Given the description of an element on the screen output the (x, y) to click on. 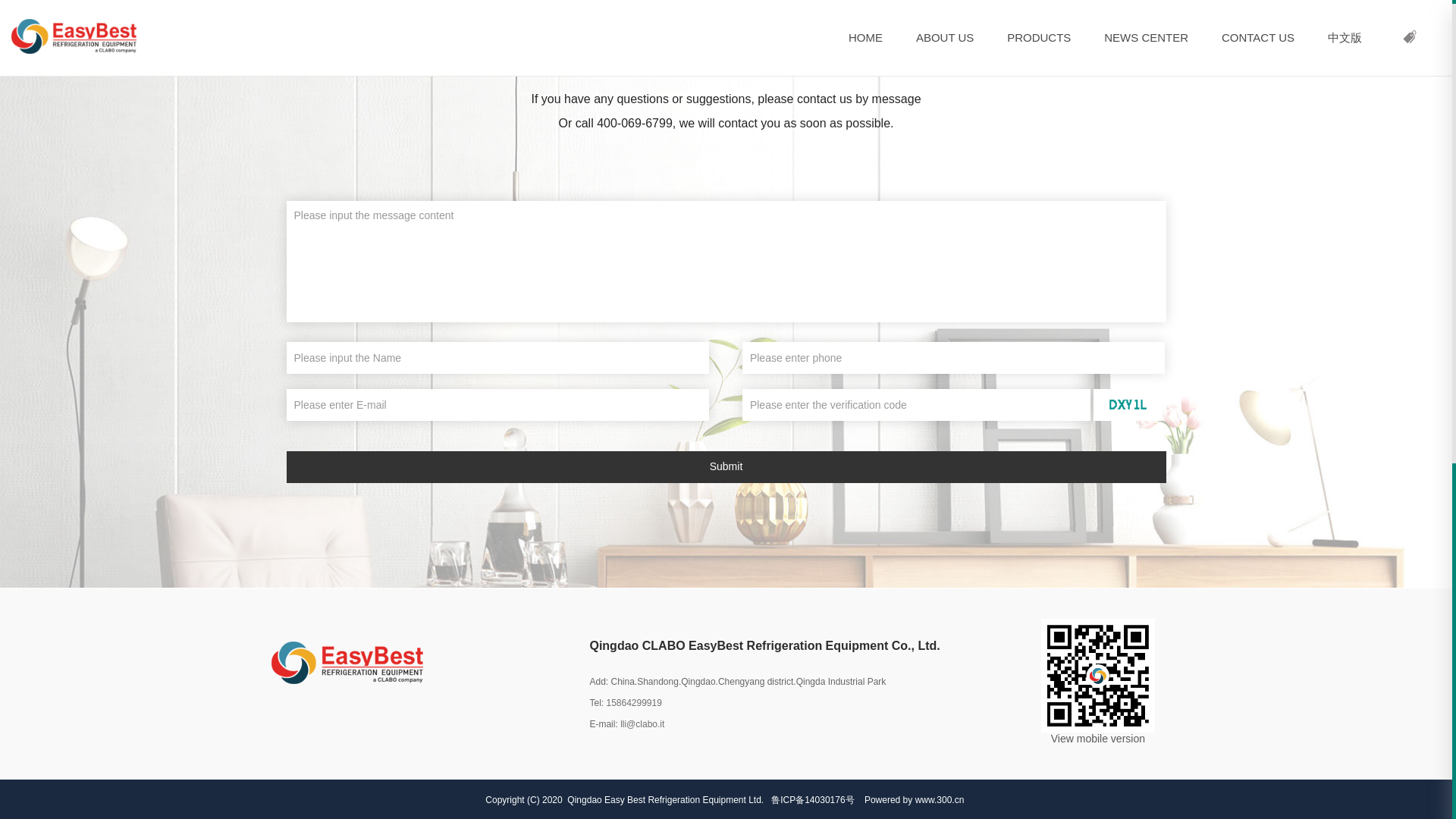
15864299919 (633, 702)
Qingdao EasyBest Refrigeration Equipment Ltd. (1097, 675)
Qingdao EasyBest Refrigeration Equipment Ltd. (346, 662)
Powered by www.300.cn (913, 799)
Submit (726, 467)
